Given the description of an element on the screen output the (x, y) to click on. 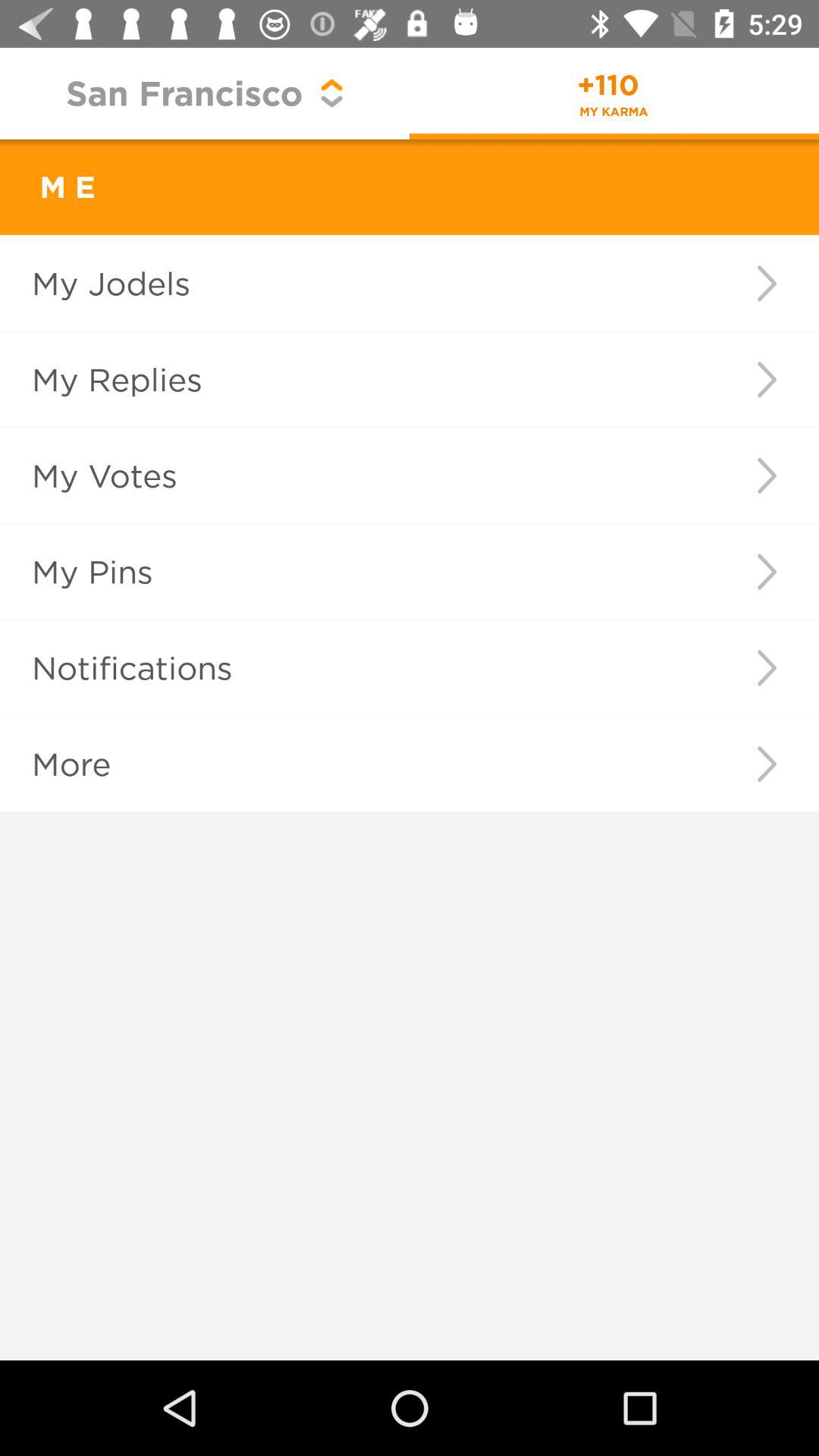
press the item to the right of my pins icon (766, 571)
